Given the description of an element on the screen output the (x, y) to click on. 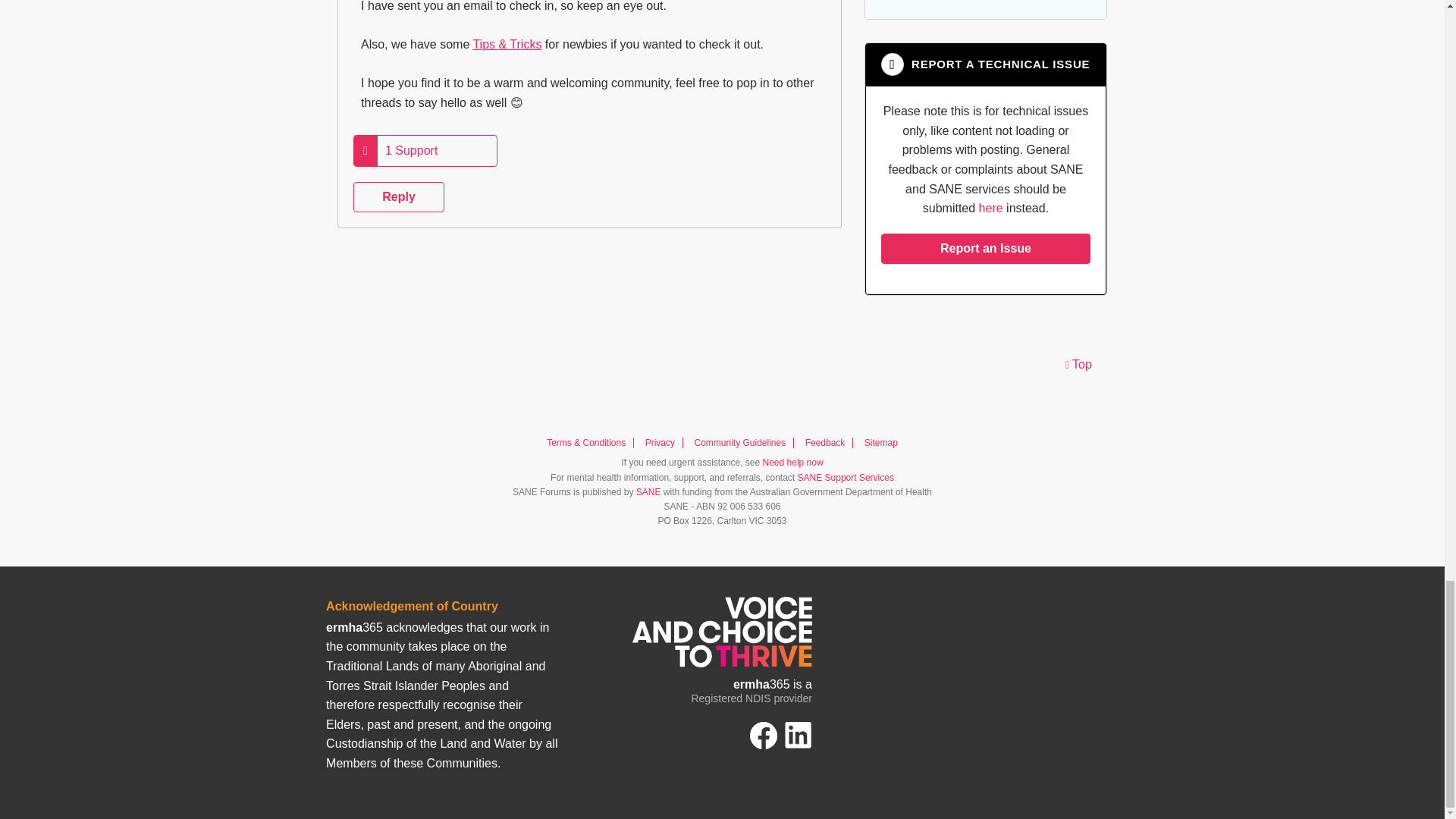
Top (1077, 365)
Top (1077, 365)
Top (1077, 365)
